Given the description of an element on the screen output the (x, y) to click on. 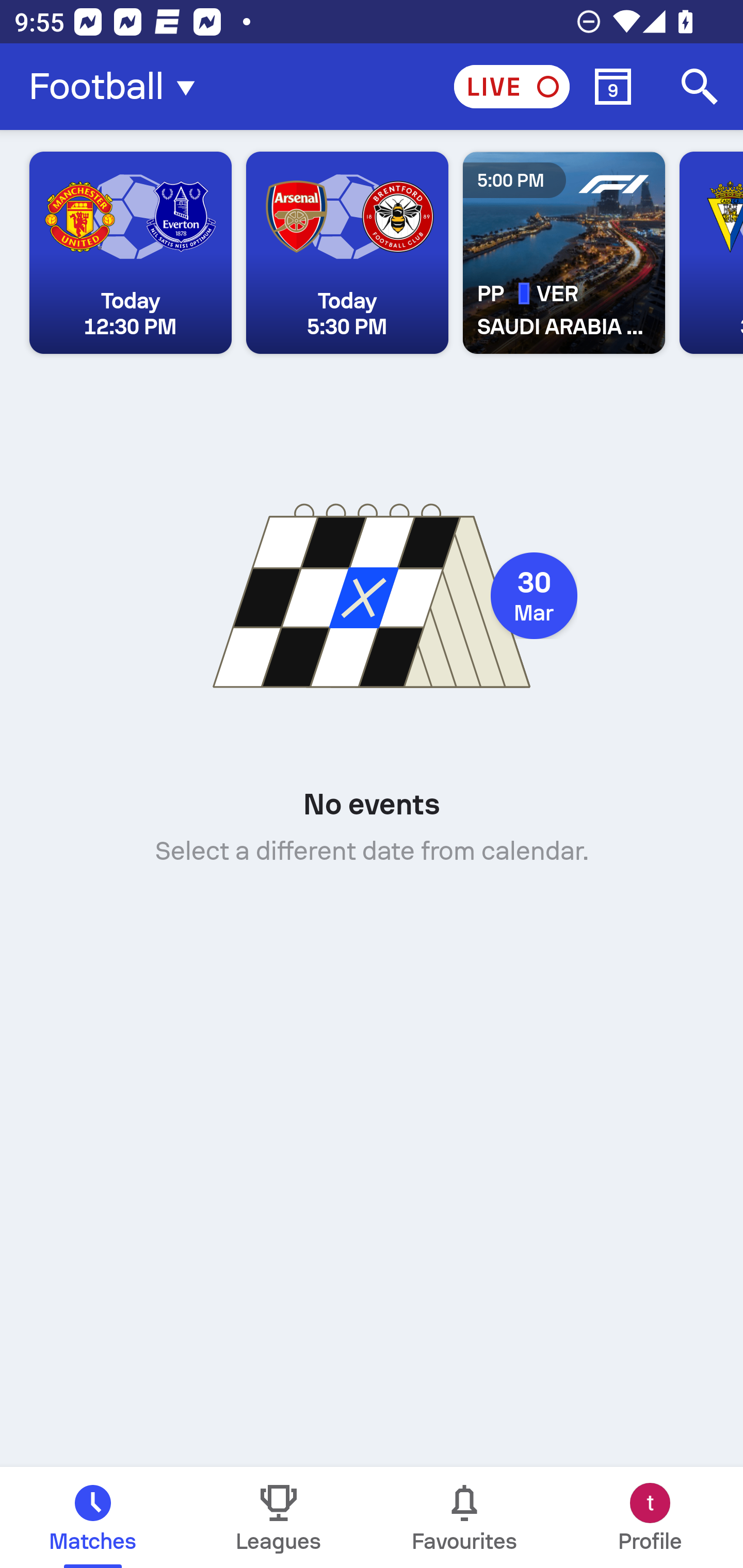
Football (117, 86)
Calendar (612, 86)
Search (699, 86)
Today
12:30 PM (130, 253)
Today
5:30 PM (346, 253)
30 Mar (533, 595)
Leagues (278, 1517)
Favourites (464, 1517)
Profile (650, 1517)
